Given the description of an element on the screen output the (x, y) to click on. 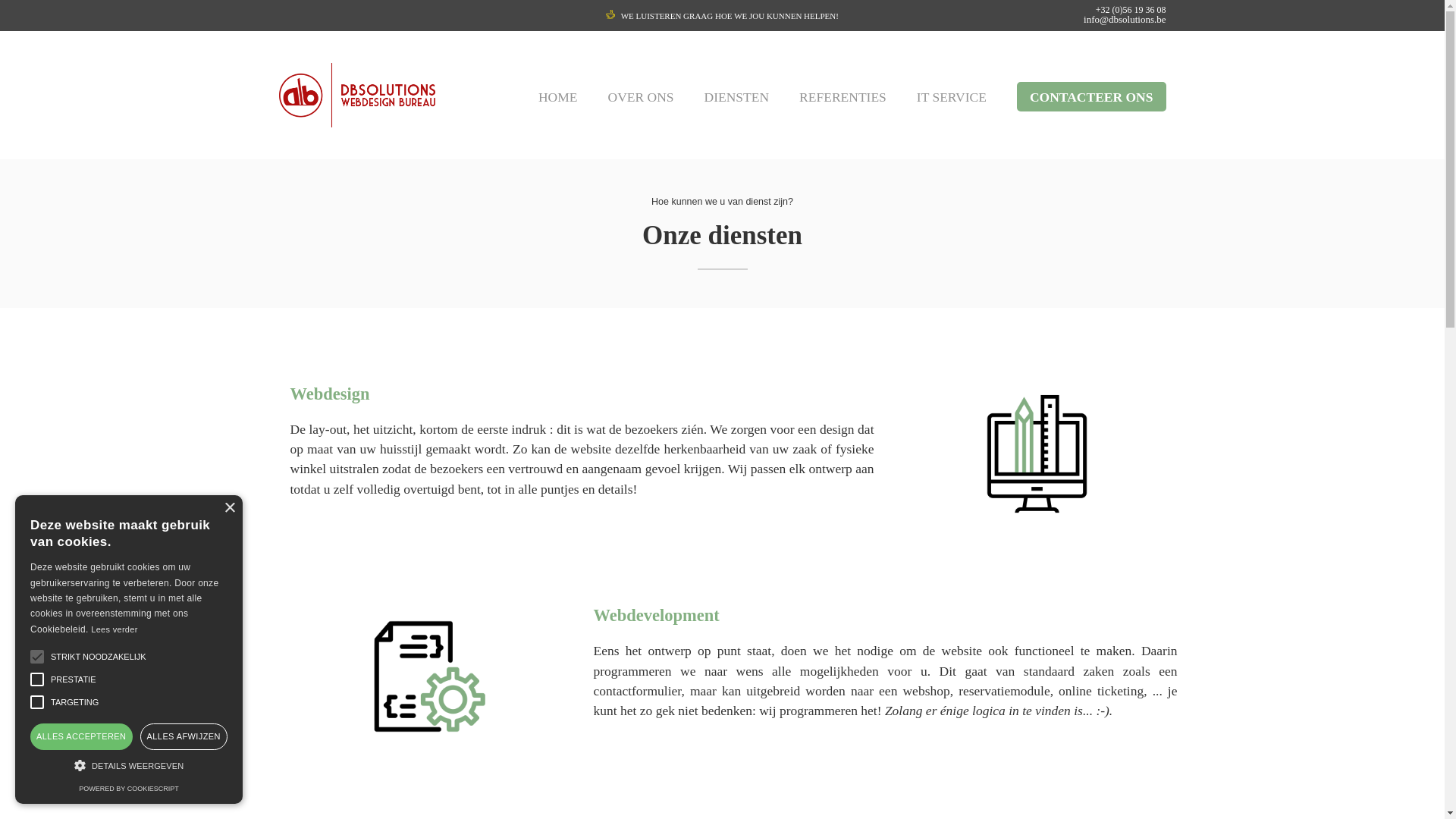
HOME Element type: text (557, 96)
POWERED BY COOKIESCRIPT Element type: text (128, 788)
DIENSTEN Element type: text (736, 96)
+32 (0)56 19 36 08 Element type: text (1130, 9)
Lees verder Element type: text (114, 628)
REFERENTIES Element type: text (842, 96)
OVER ONS Element type: text (641, 96)
WE LUISTEREN GRAAG HOE WE JOU KUNNEN HELPEN! Element type: text (721, 15)
info@dbsolutions.be Element type: text (1124, 19)
CONTACTEER ONS Element type: text (1091, 96)
IT SERVICE Element type: text (951, 96)
